Given the description of an element on the screen output the (x, y) to click on. 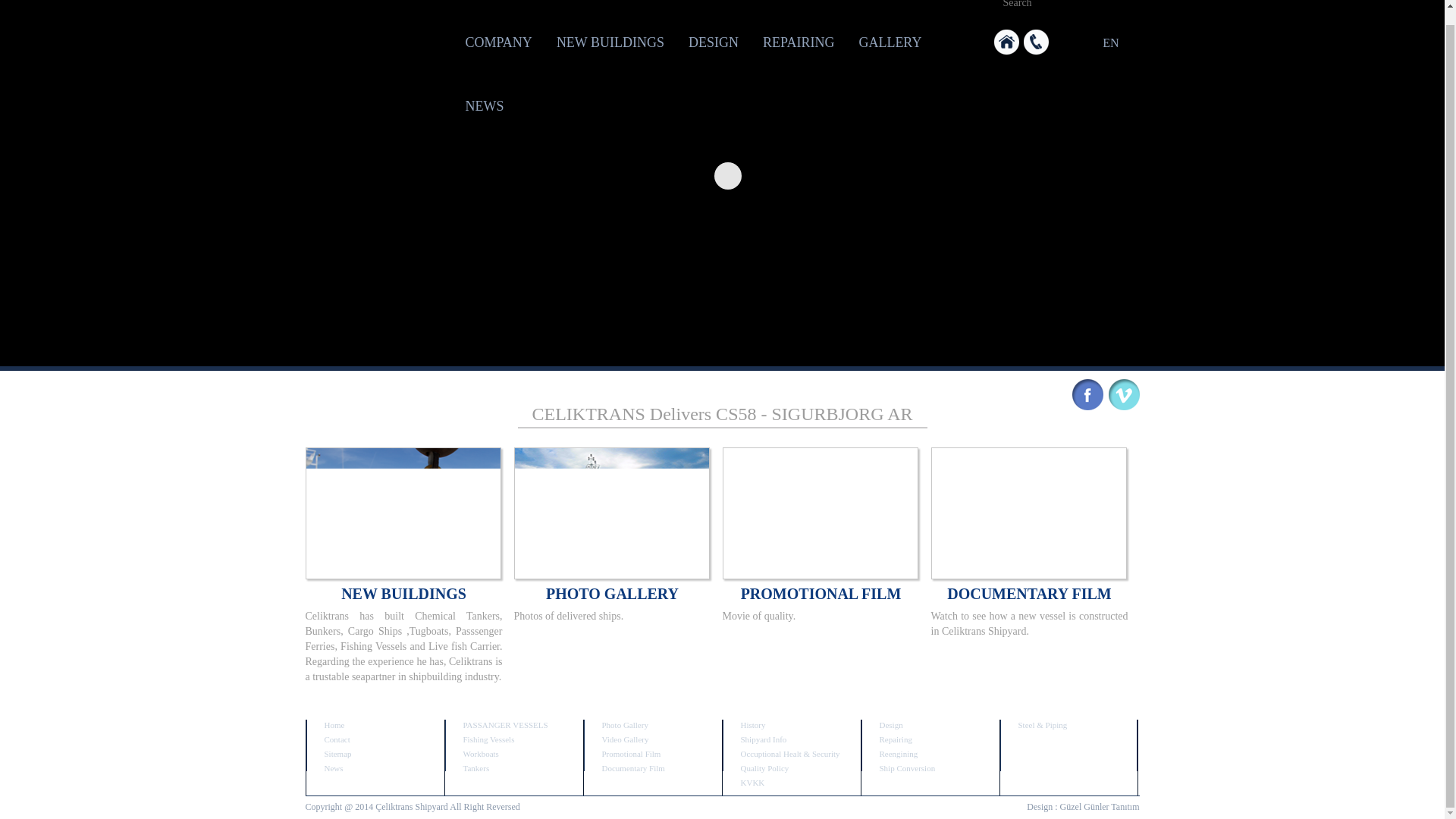
DESIGN (714, 42)
GALLERY (889, 42)
CELIKTRANS Delivers CS58 - SIGURBJORG AR (721, 414)
EN (1105, 42)
REPAIRING (798, 42)
NEWS (484, 105)
COMPANY (498, 42)
NEW BUILDINGS (610, 42)
